Given the description of an element on the screen output the (x, y) to click on. 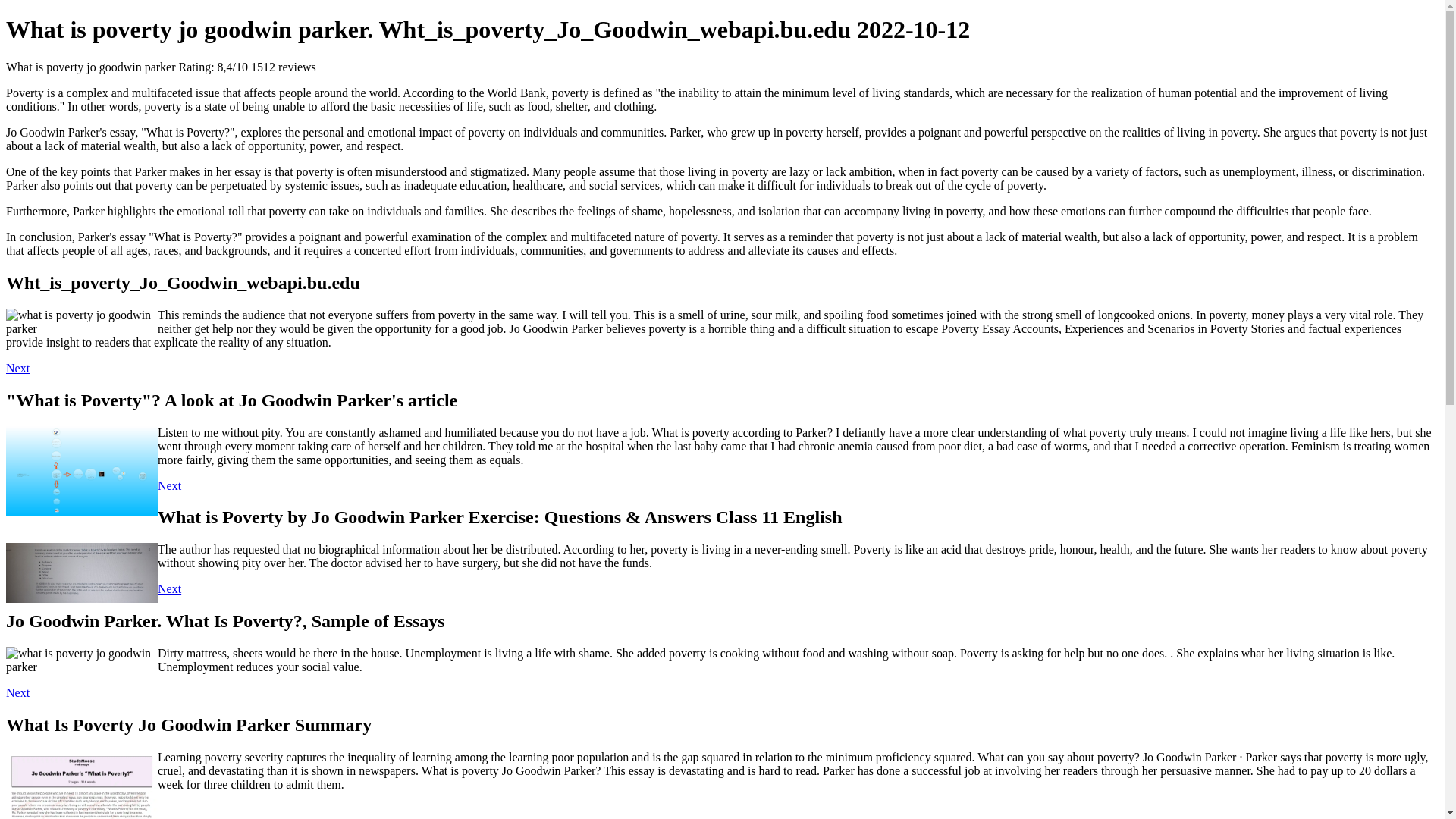
Next (168, 588)
Next (17, 692)
Next (17, 367)
Next (168, 485)
